Given the description of an element on the screen output the (x, y) to click on. 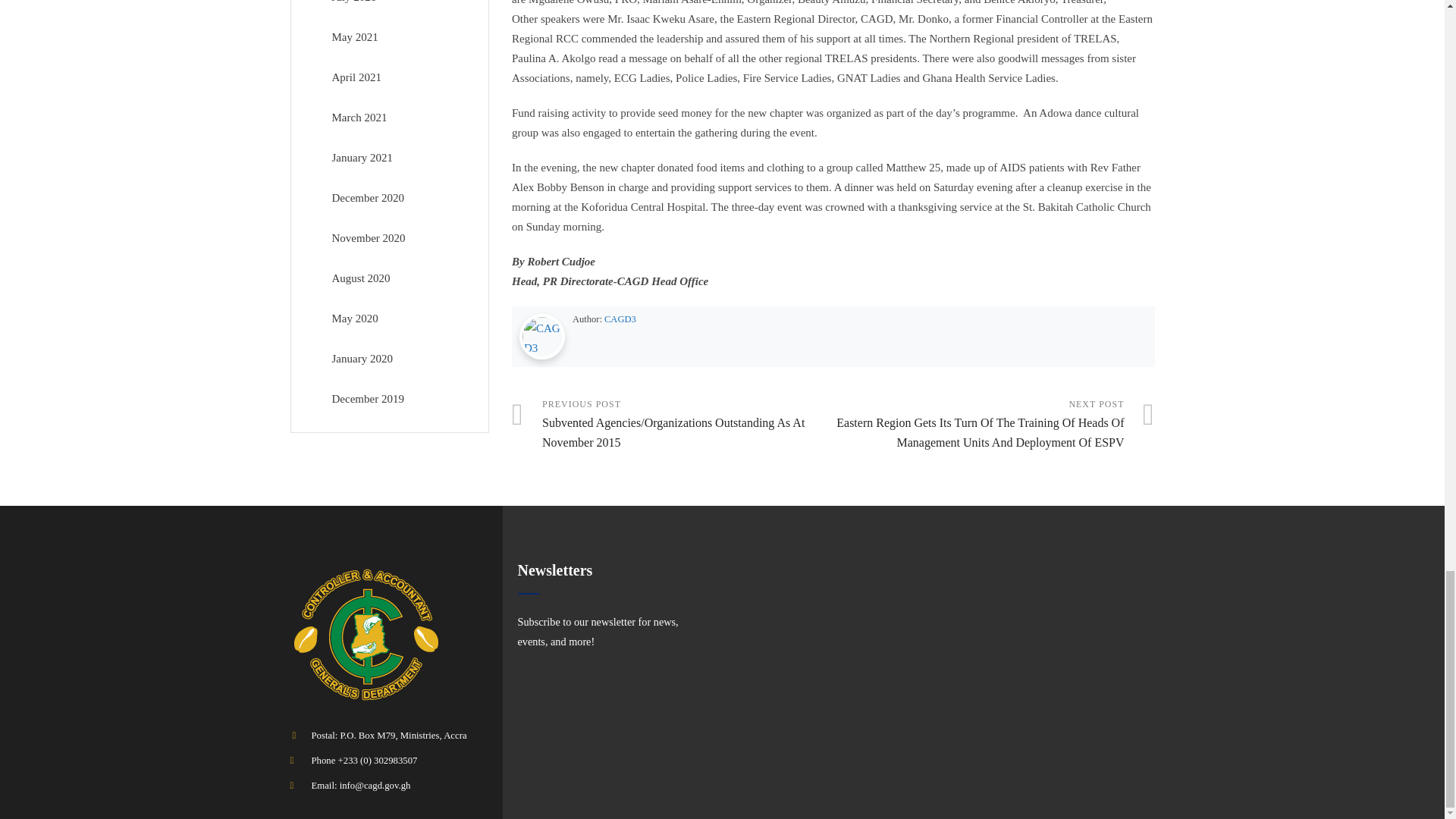
CAGD3 (620, 318)
